Given the description of an element on the screen output the (x, y) to click on. 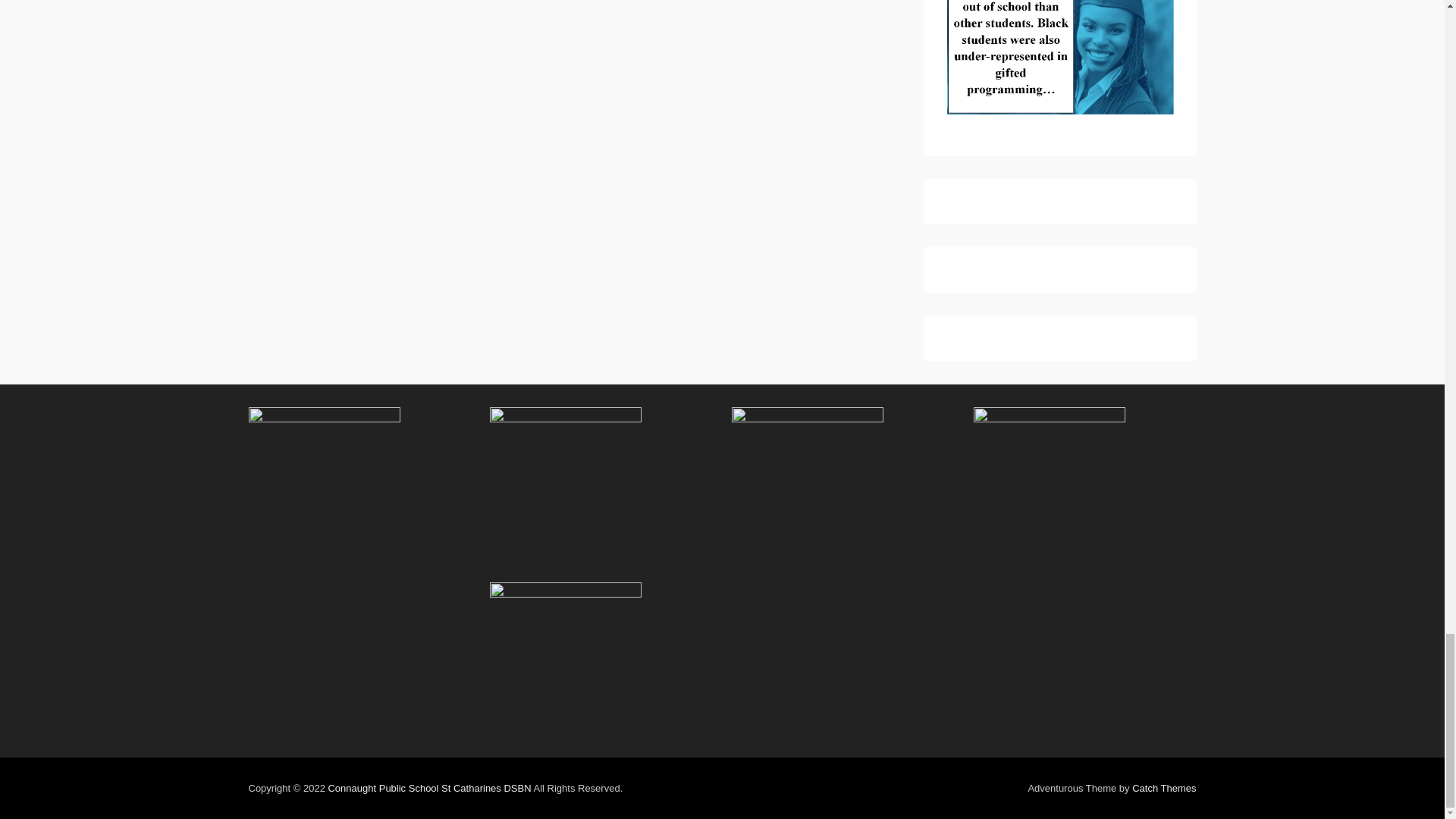
Catch Themes (1163, 787)
Connaught Public School St Catharines DSBN (429, 787)
Connaught Public School St Catharines DSBN (429, 787)
Catch Themes (1163, 787)
